Given the description of an element on the screen output the (x, y) to click on. 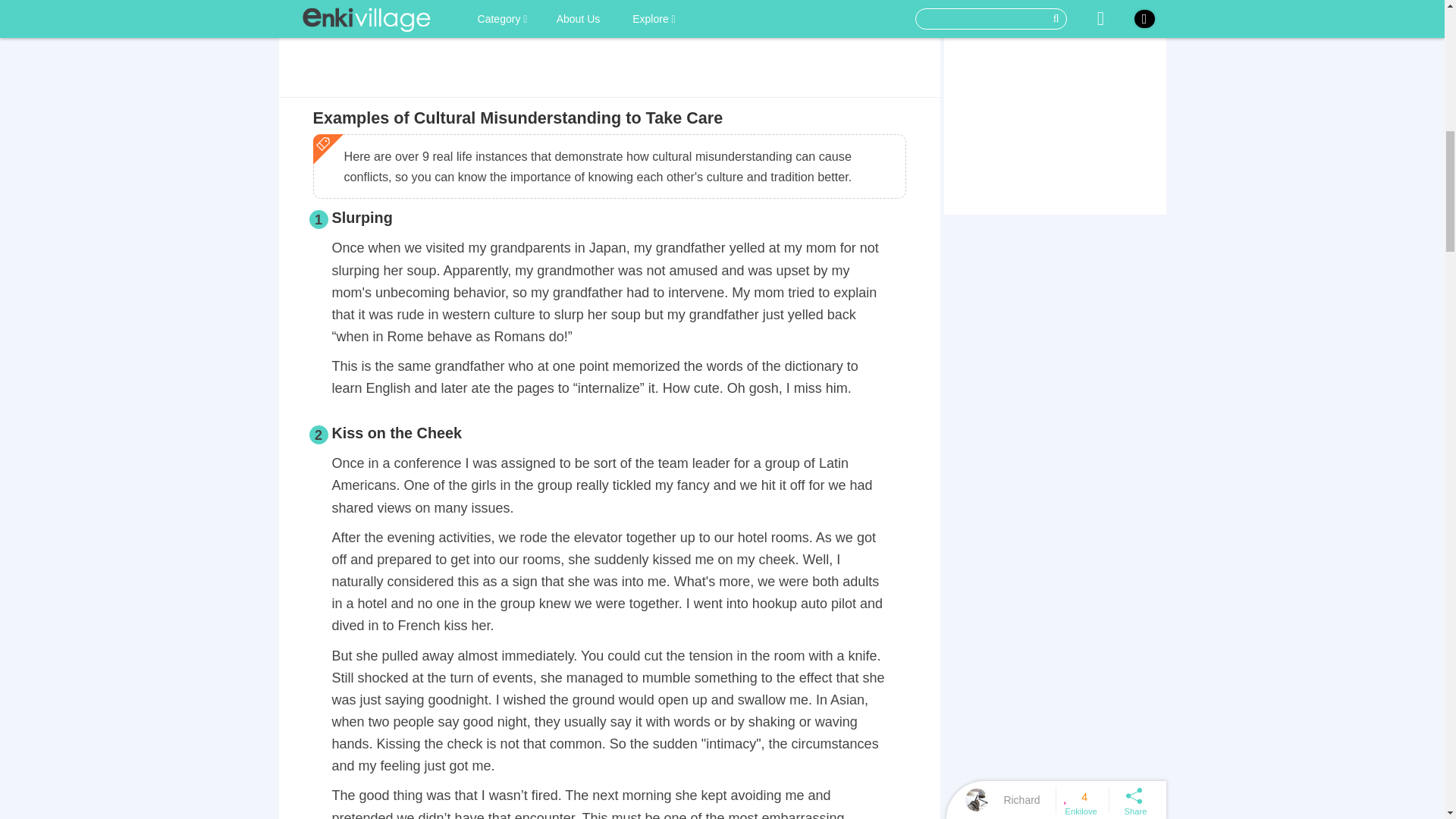
Advertisement (609, 55)
Advertisement (1054, 104)
